Given the description of an element on the screen output the (x, y) to click on. 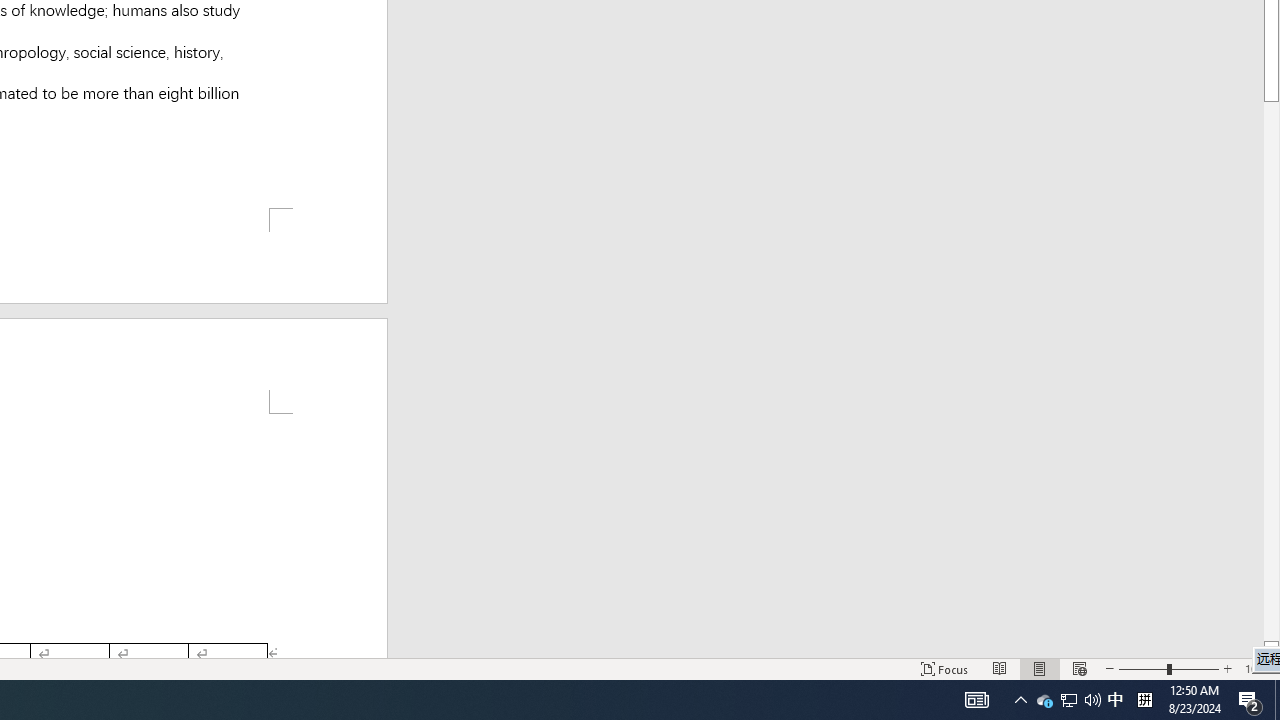
Zoom 100% (1258, 668)
Line down (1271, 649)
Page down (1271, 371)
